Given the description of an element on the screen output the (x, y) to click on. 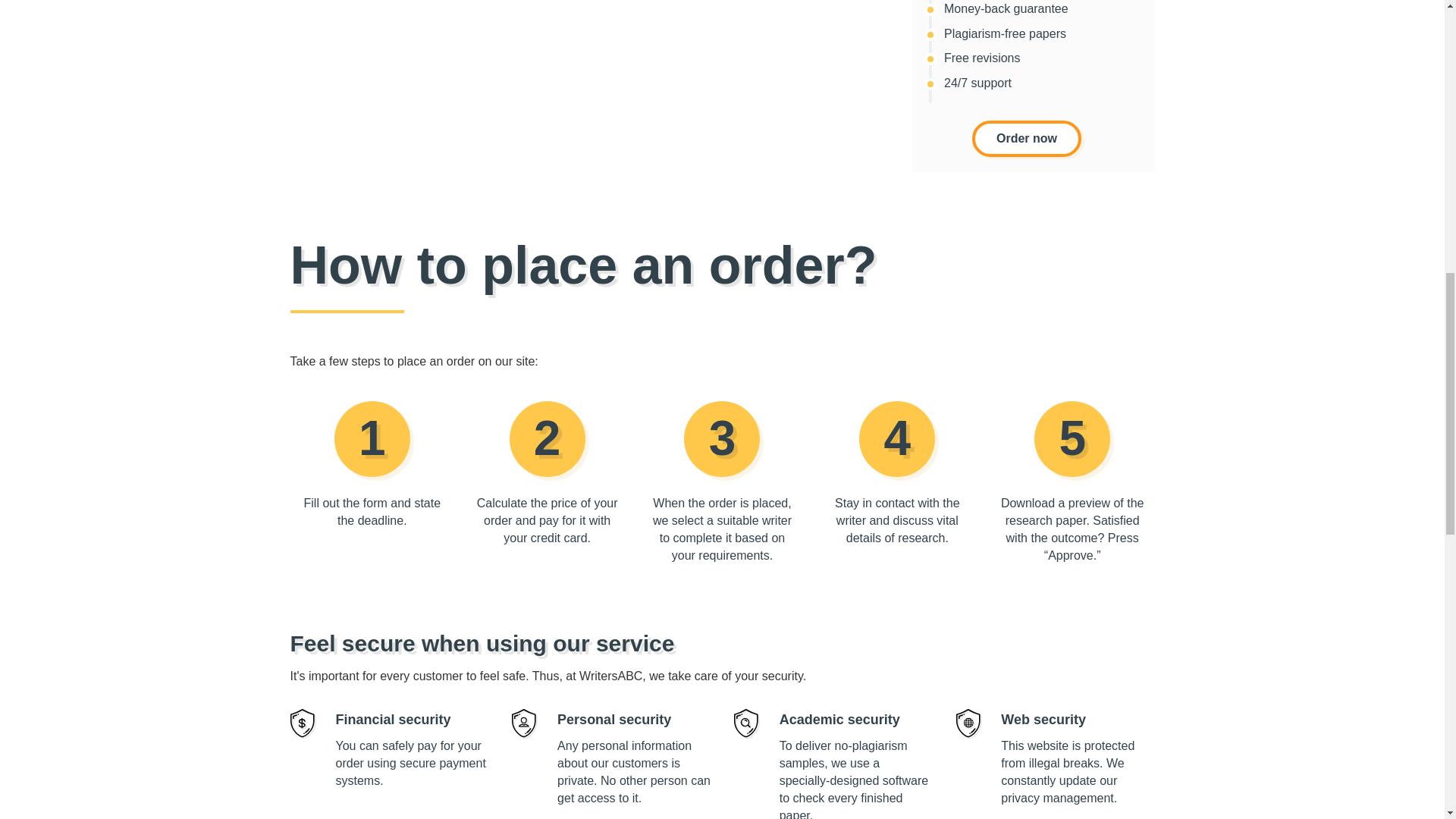
Order now (1025, 138)
